Given the description of an element on the screen output the (x, y) to click on. 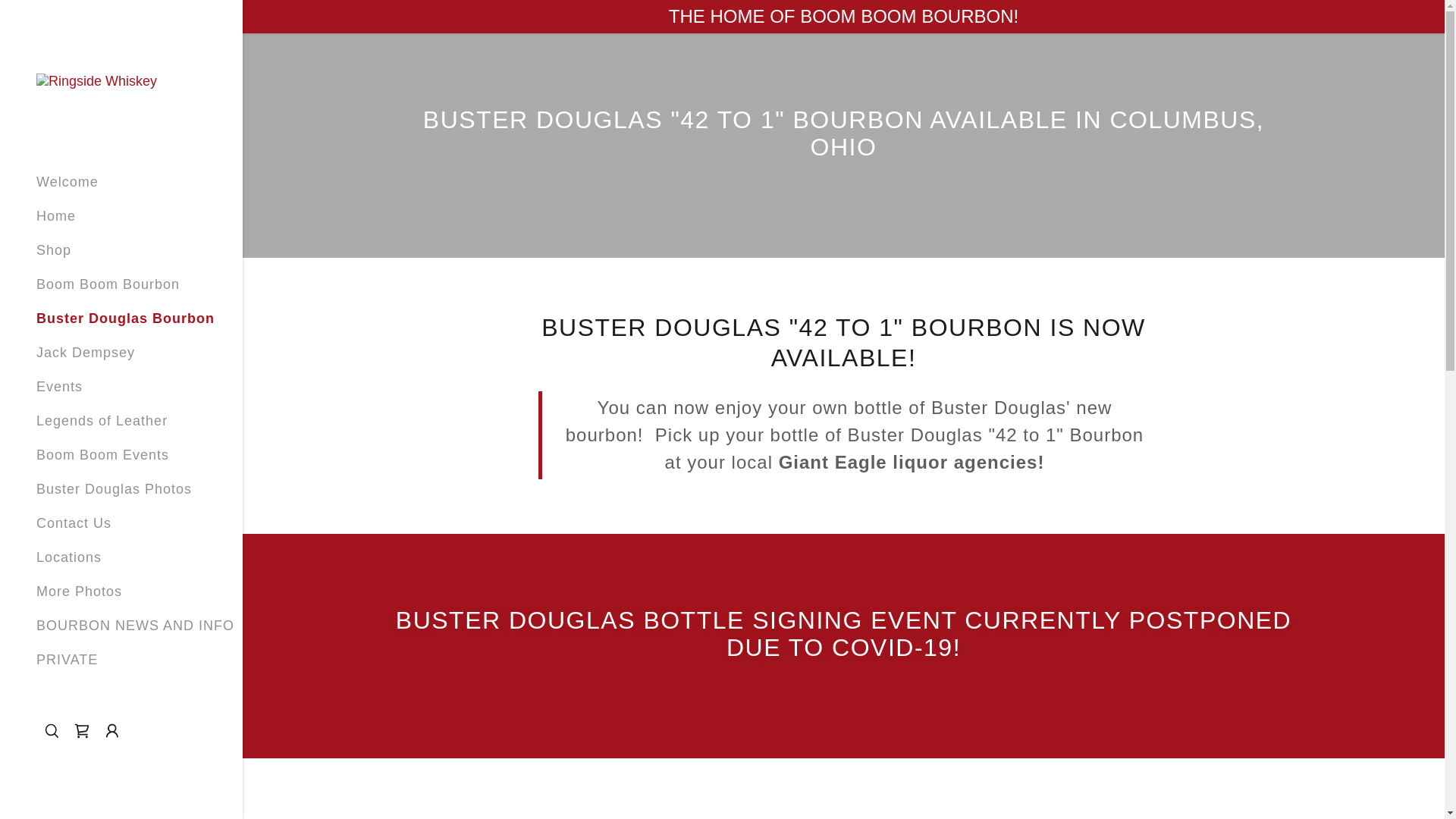
More Photos Element type: text (79, 591)
Welcome Element type: text (67, 181)
Buster Douglas Bourbon Element type: text (125, 318)
Boom Boom Bourbon Element type: text (107, 283)
BOURBON NEWS AND INFO Element type: text (135, 625)
Buster Douglas Photos Element type: text (113, 488)
Shop Element type: text (53, 249)
Ringside Whiskey Element type: hover (96, 79)
Locations Element type: text (68, 556)
Contact Us Element type: text (73, 522)
Boom Boom Events Element type: text (102, 454)
Events Element type: text (59, 386)
Legends of Leather Element type: text (101, 420)
PRIVATE Element type: text (66, 659)
Home Element type: text (55, 215)
Jack Dempsey Element type: text (85, 352)
